Given the description of an element on the screen output the (x, y) to click on. 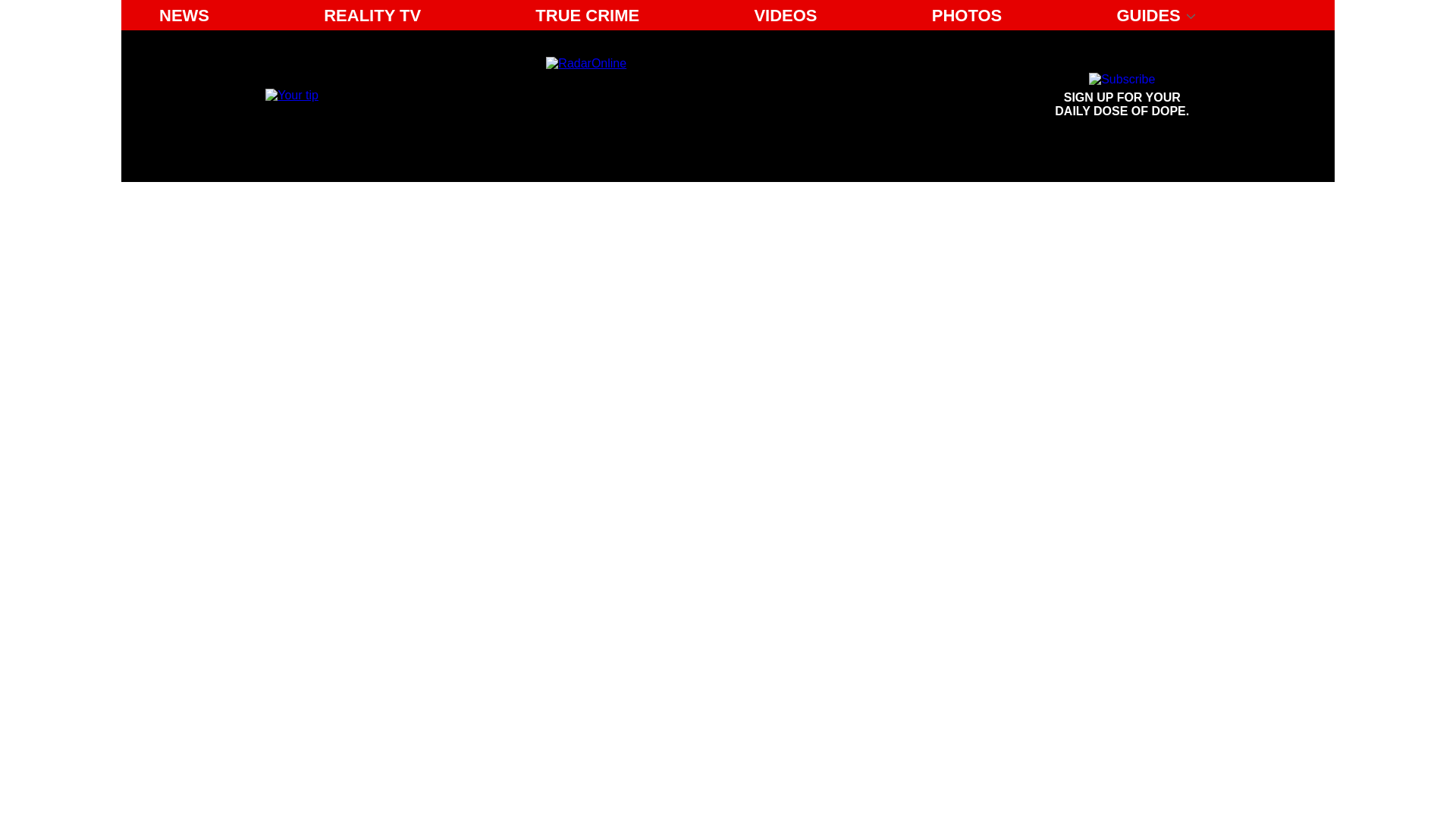
Radar Online (685, 95)
PHOTOS (967, 15)
VIDEOS (784, 15)
TRUE CRIME (1122, 94)
Sign up for your daily dose of dope. (586, 15)
Email us your tip (1122, 94)
NEWS (291, 94)
REALITY TV (183, 15)
